Given the description of an element on the screen output the (x, y) to click on. 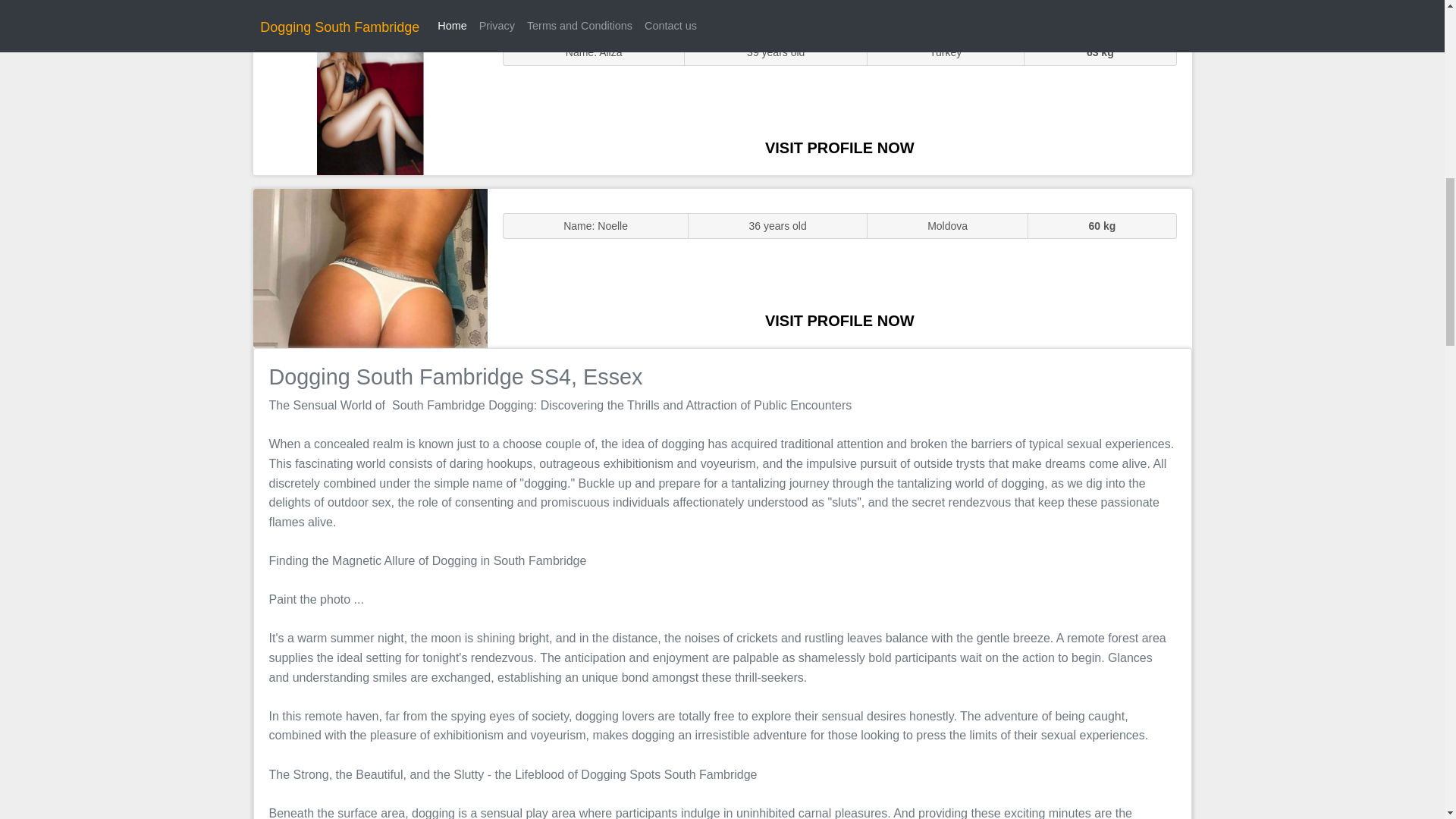
Sluts (370, 94)
Massage (370, 267)
VISIT PROFILE NOW (839, 320)
VISIT PROFILE NOW (839, 147)
